Given the description of an element on the screen output the (x, y) to click on. 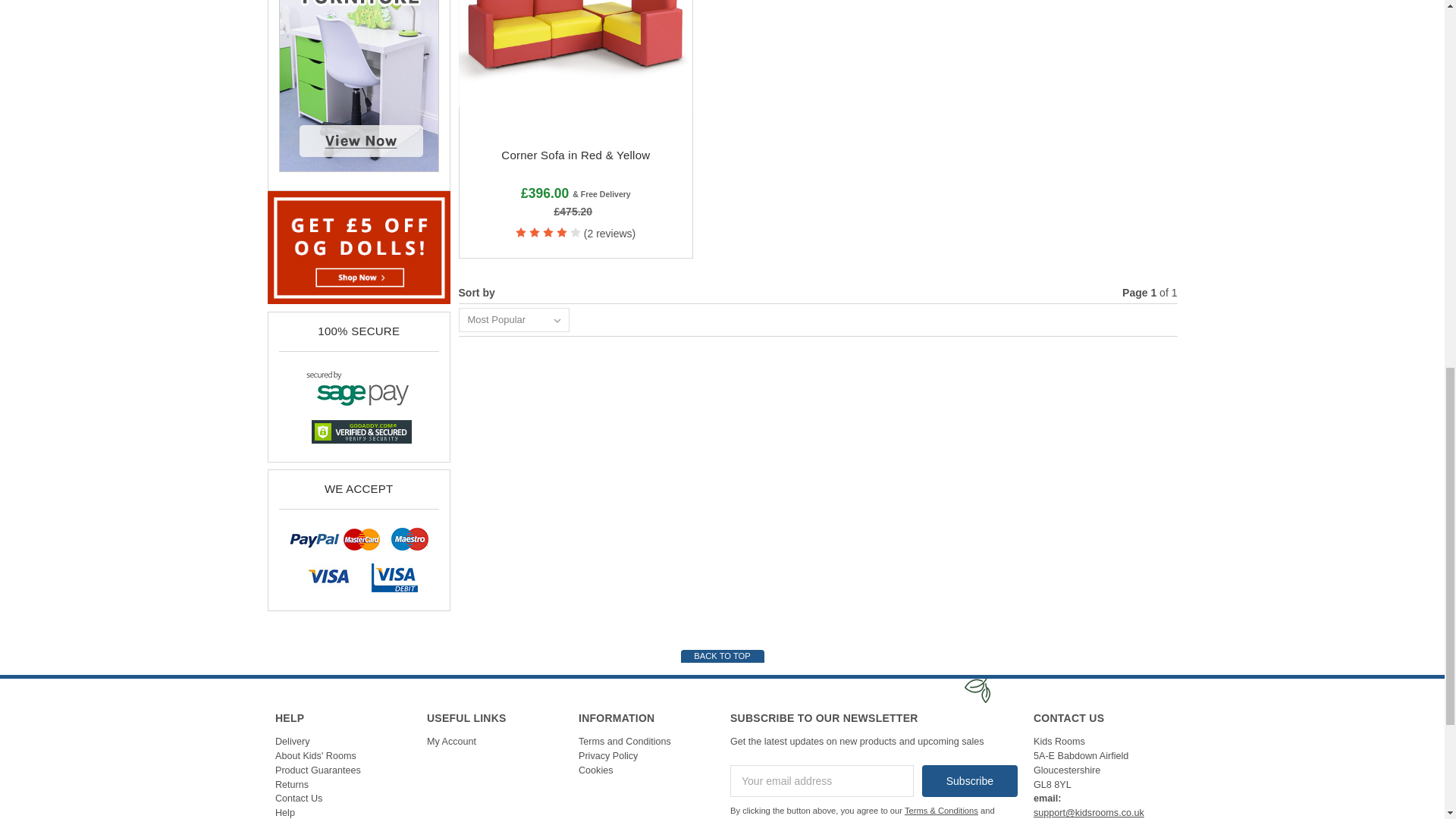
BACK TO TOP (722, 656)
Subscribe (969, 780)
